Given the description of an element on the screen output the (x, y) to click on. 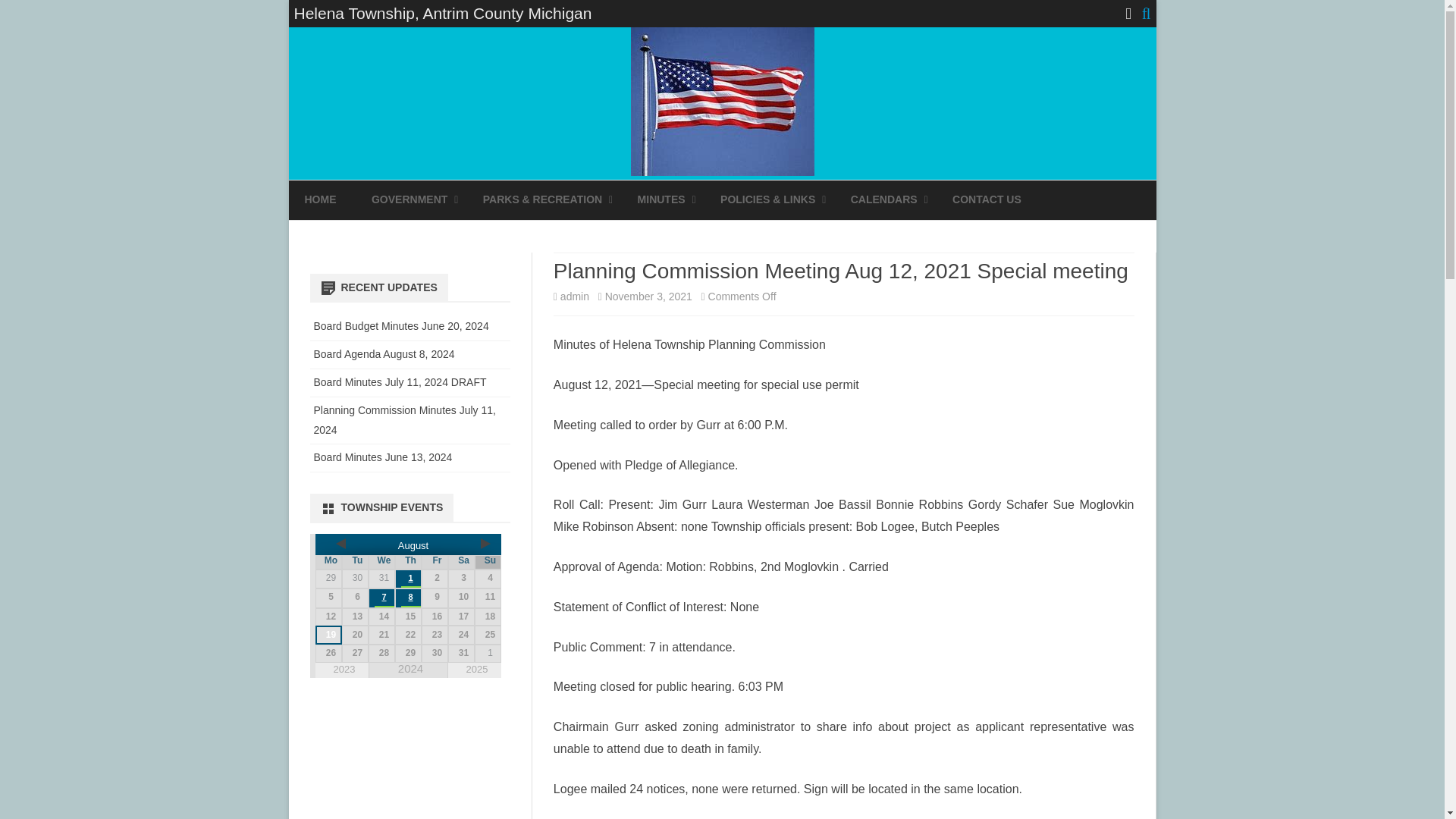
GOVERNMENT (408, 200)
